Given the description of an element on the screen output the (x, y) to click on. 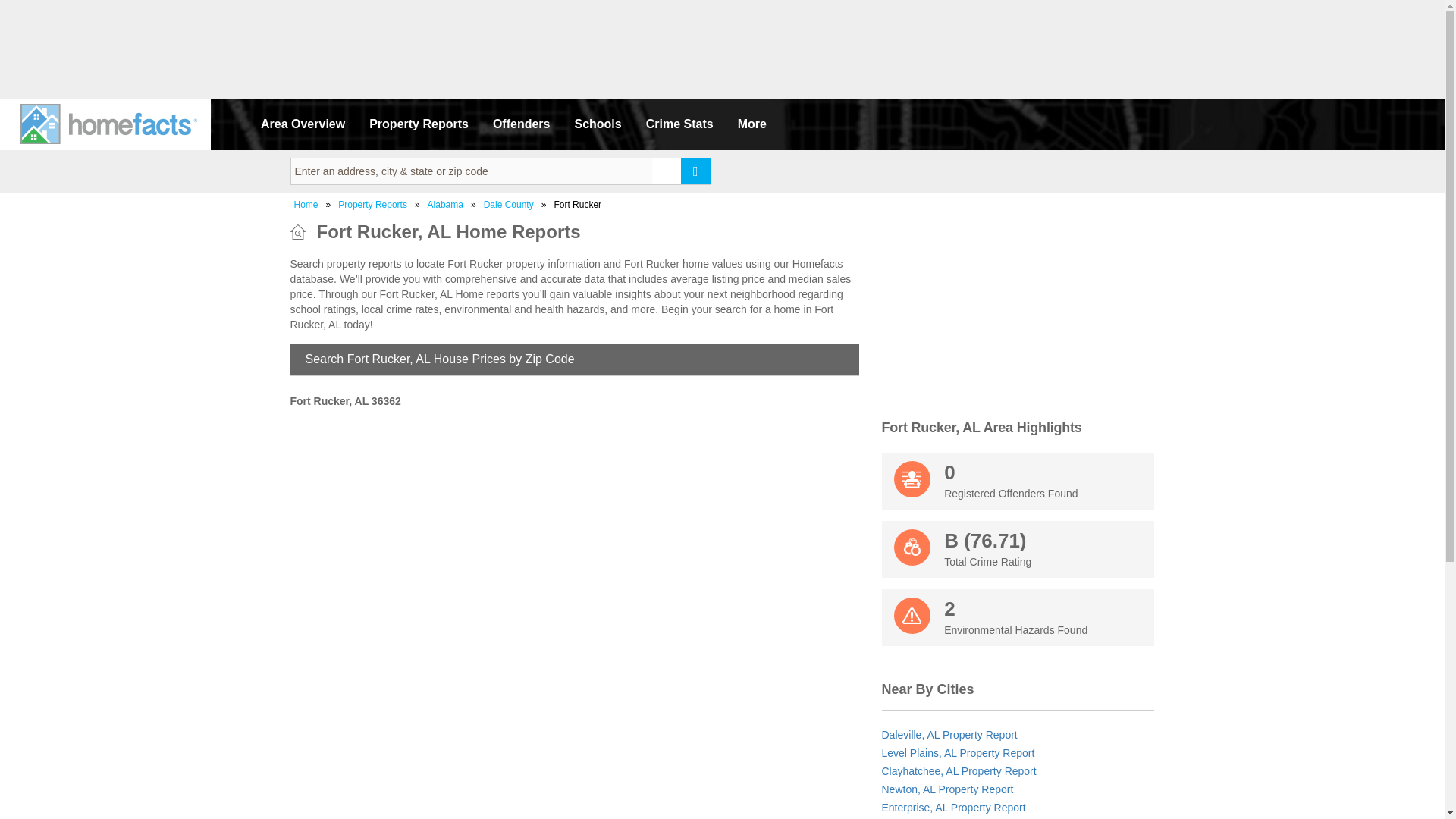
Property Reports (418, 123)
Area Overview (302, 123)
More (751, 123)
Clayhatchee, AL Property Report (957, 770)
Property Reports (418, 123)
homefacts.com (111, 123)
Area Overview (302, 123)
Crime Stats (679, 123)
Alabama (445, 204)
Daleville, AL Property Report (948, 734)
Dale County (1018, 480)
Newton, AL Property Report (508, 204)
More (946, 788)
Level Plains, AL Property Report (751, 123)
